Given the description of an element on the screen output the (x, y) to click on. 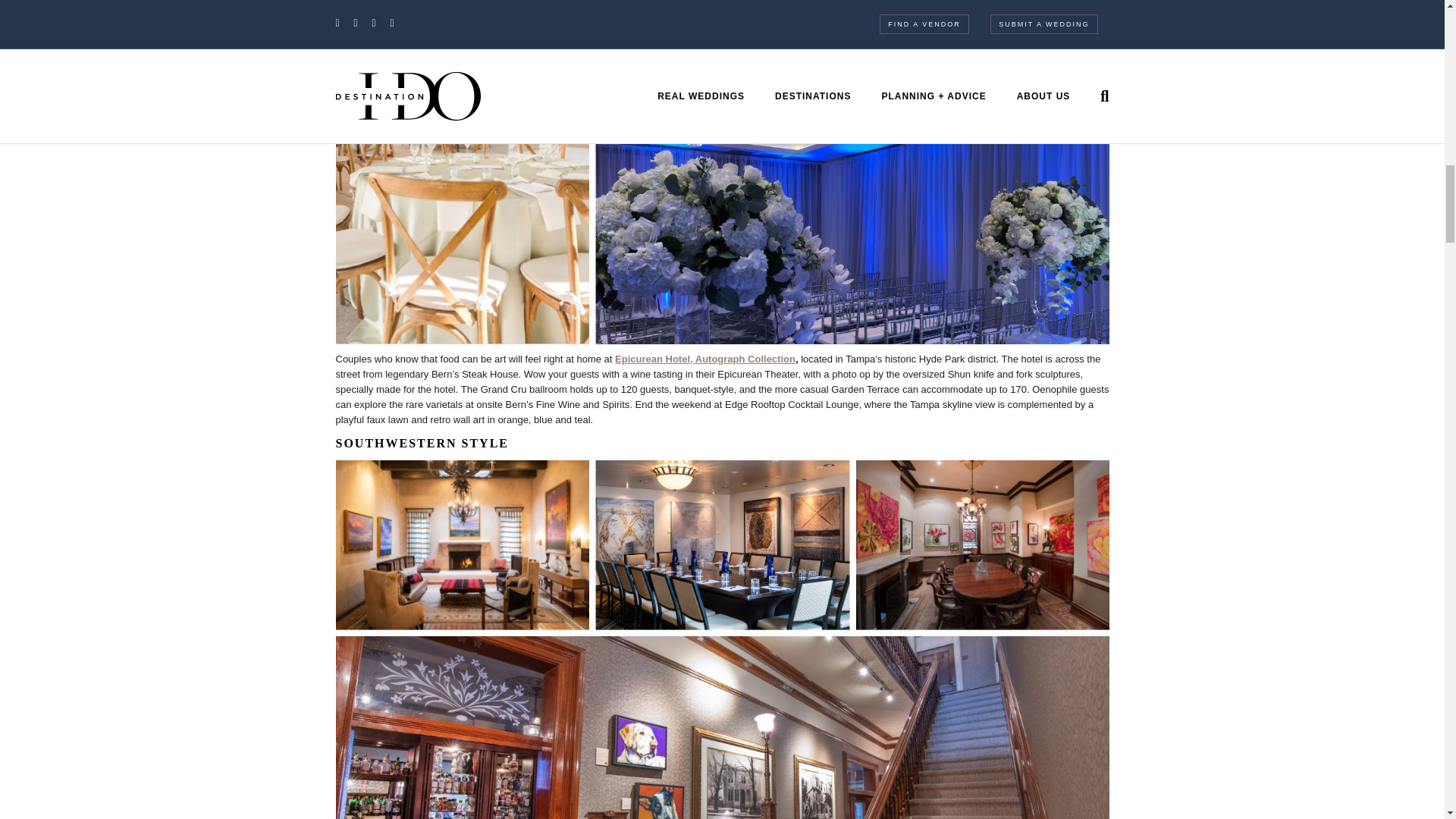
Epicurean Hotel, Autograph Collection (704, 358)
